Given the description of an element on the screen output the (x, y) to click on. 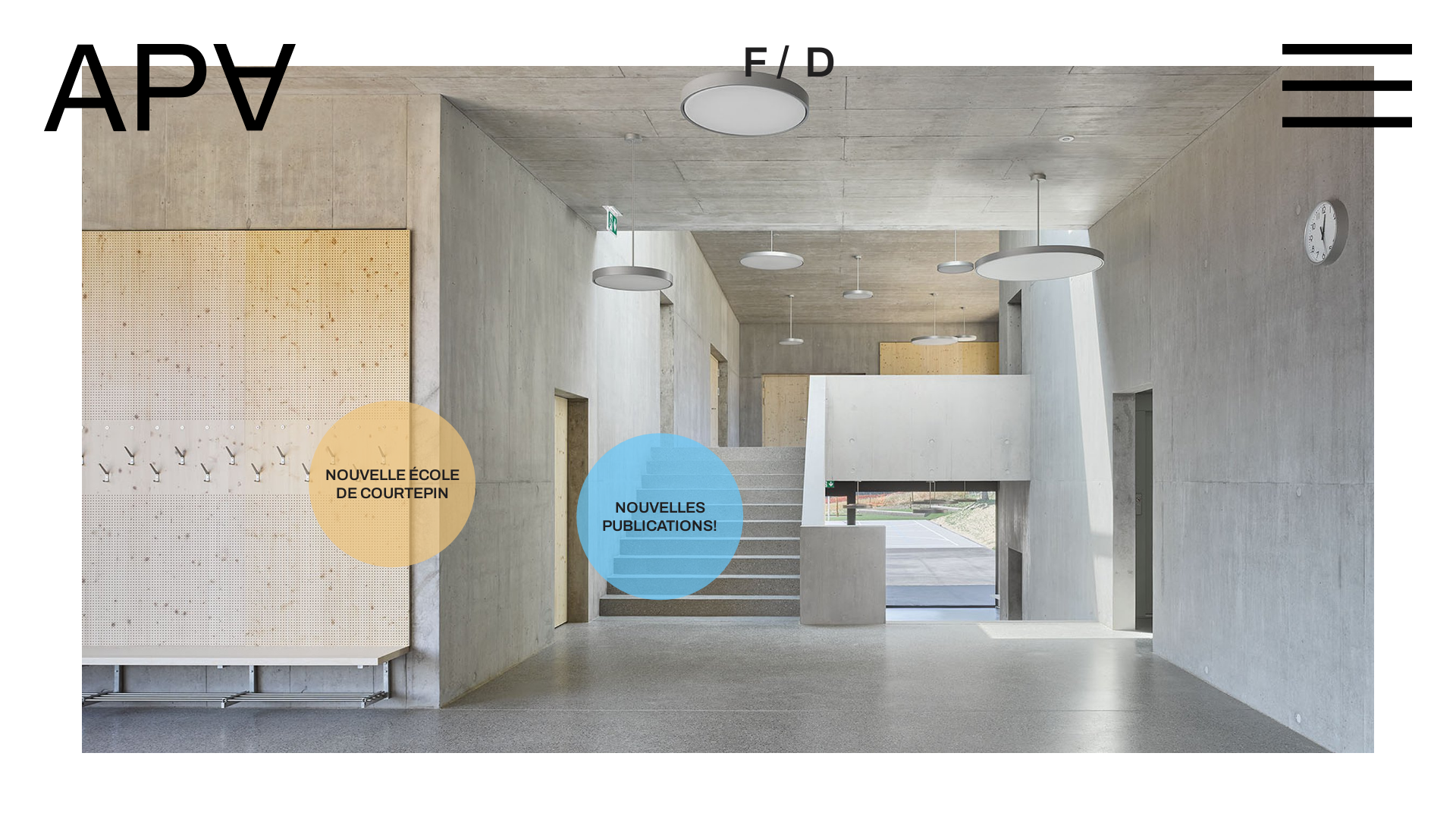
F Element type: text (754, 62)
NOUVELLES PUBLICATIONS! Element type: text (630, 521)
D Element type: text (820, 62)
